Given the description of an element on the screen output the (x, y) to click on. 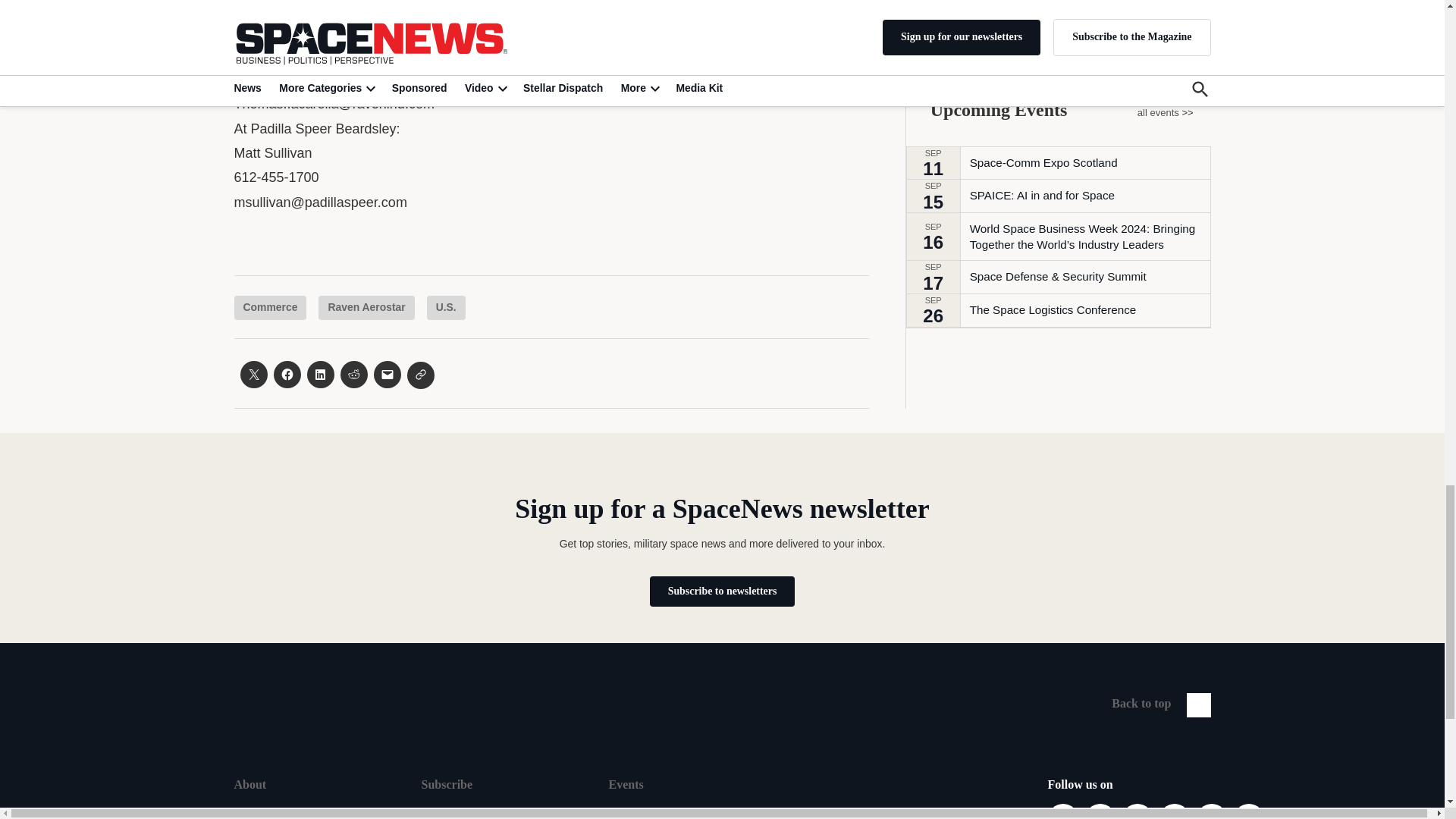
Click to share on Reddit (352, 374)
Click to share on Clipboard (419, 375)
Click to share on LinkedIn (319, 374)
Click to share on X (253, 374)
Click to email a link to a friend (386, 374)
Click to share on Facebook (286, 374)
